Given the description of an element on the screen output the (x, y) to click on. 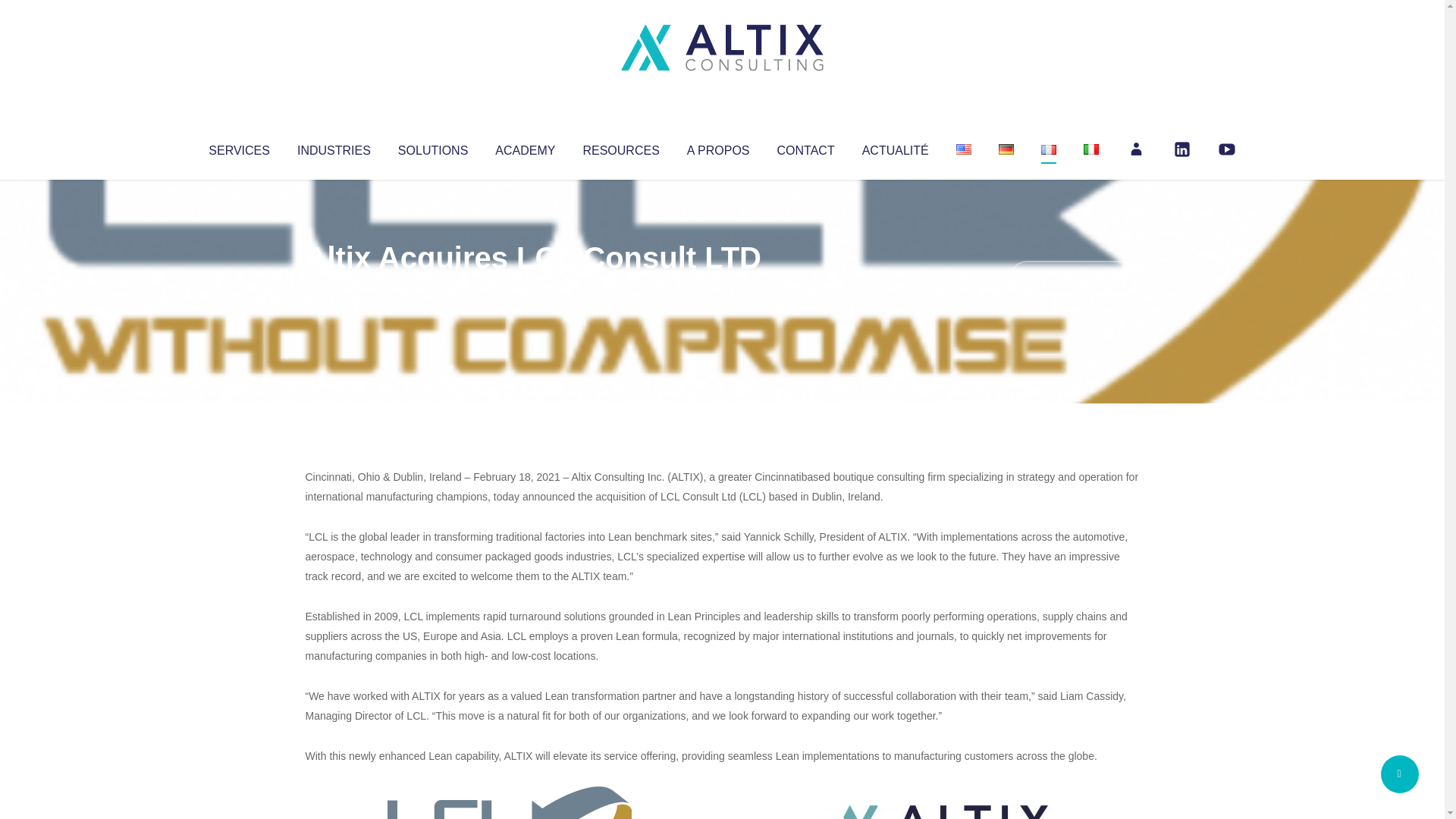
RESOURCES (620, 146)
ACADEMY (524, 146)
A PROPOS (718, 146)
Articles par Altix (333, 287)
Uncategorized (530, 287)
Altix (333, 287)
INDUSTRIES (334, 146)
SERVICES (238, 146)
SOLUTIONS (432, 146)
No Comments (1073, 278)
